Given the description of an element on the screen output the (x, y) to click on. 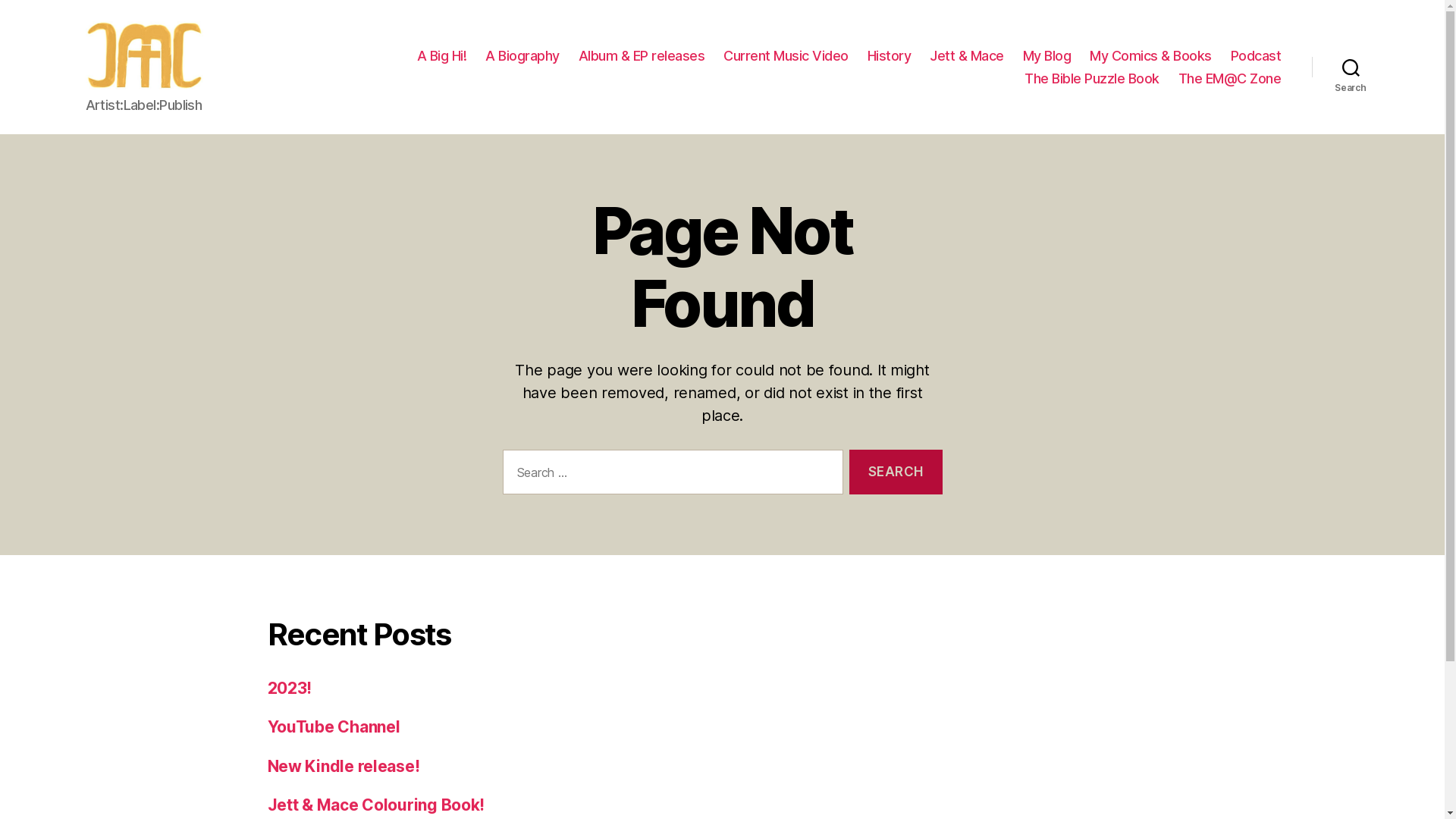
Search Element type: text (1350, 66)
Search Element type: text (895, 471)
The EM@C Zone Element type: text (1229, 77)
Podcast Element type: text (1255, 55)
Album & EP releases Element type: text (641, 55)
History Element type: text (889, 55)
2023! Element type: text (288, 687)
Jett & Mace Colouring Book! Element type: text (375, 804)
Jett & Mace Element type: text (966, 55)
The Bible Puzzle Book Element type: text (1091, 77)
Current Music Video Element type: text (785, 55)
A Biography Element type: text (522, 55)
New Kindle release! Element type: text (342, 765)
YouTube Channel Element type: text (332, 726)
My Blog Element type: text (1046, 55)
My Comics & Books Element type: text (1150, 55)
A Big Hi! Element type: text (442, 55)
